Given the description of an element on the screen output the (x, y) to click on. 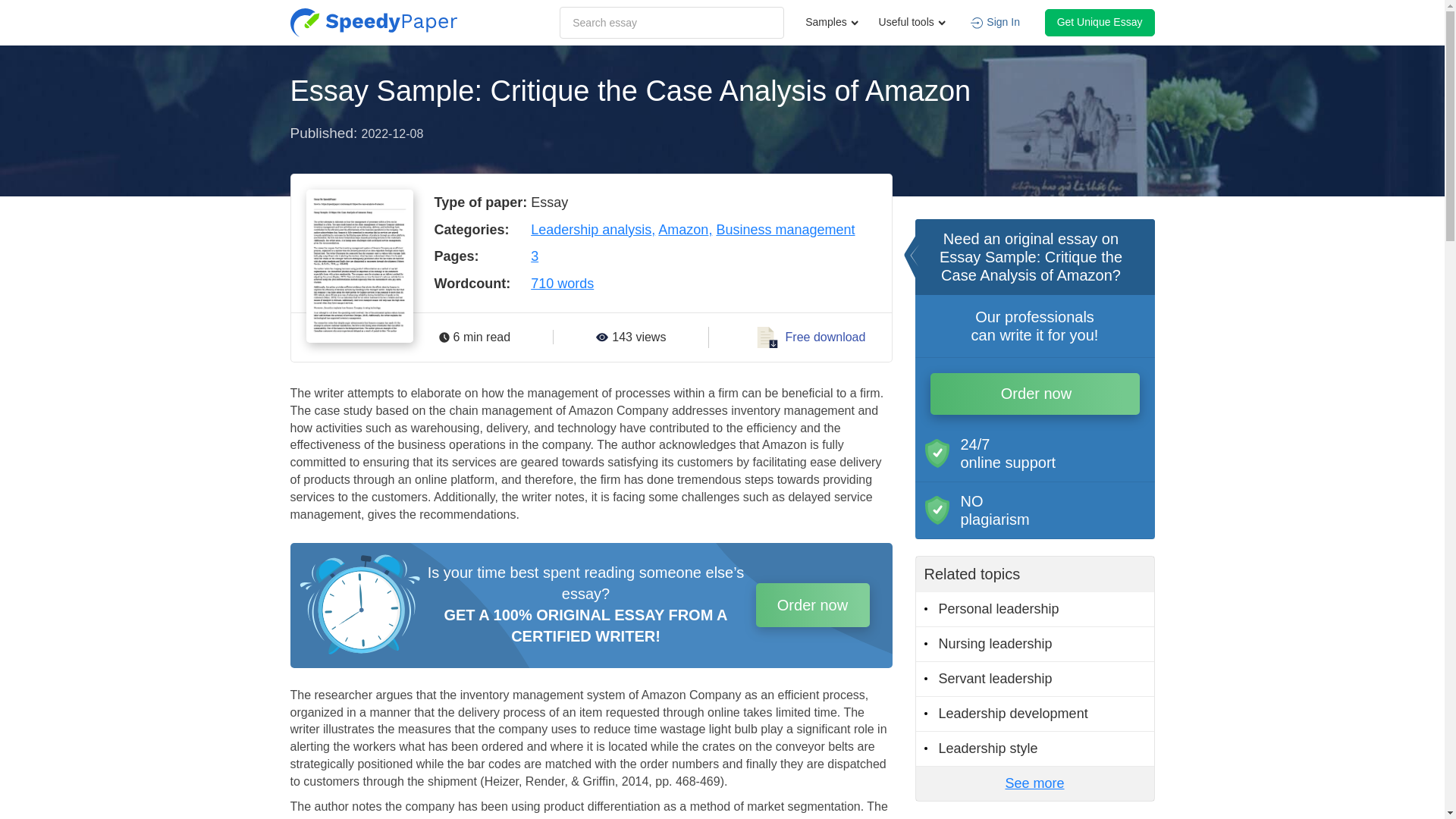
Get Unique Essay (1099, 22)
